Given the description of an element on the screen output the (x, y) to click on. 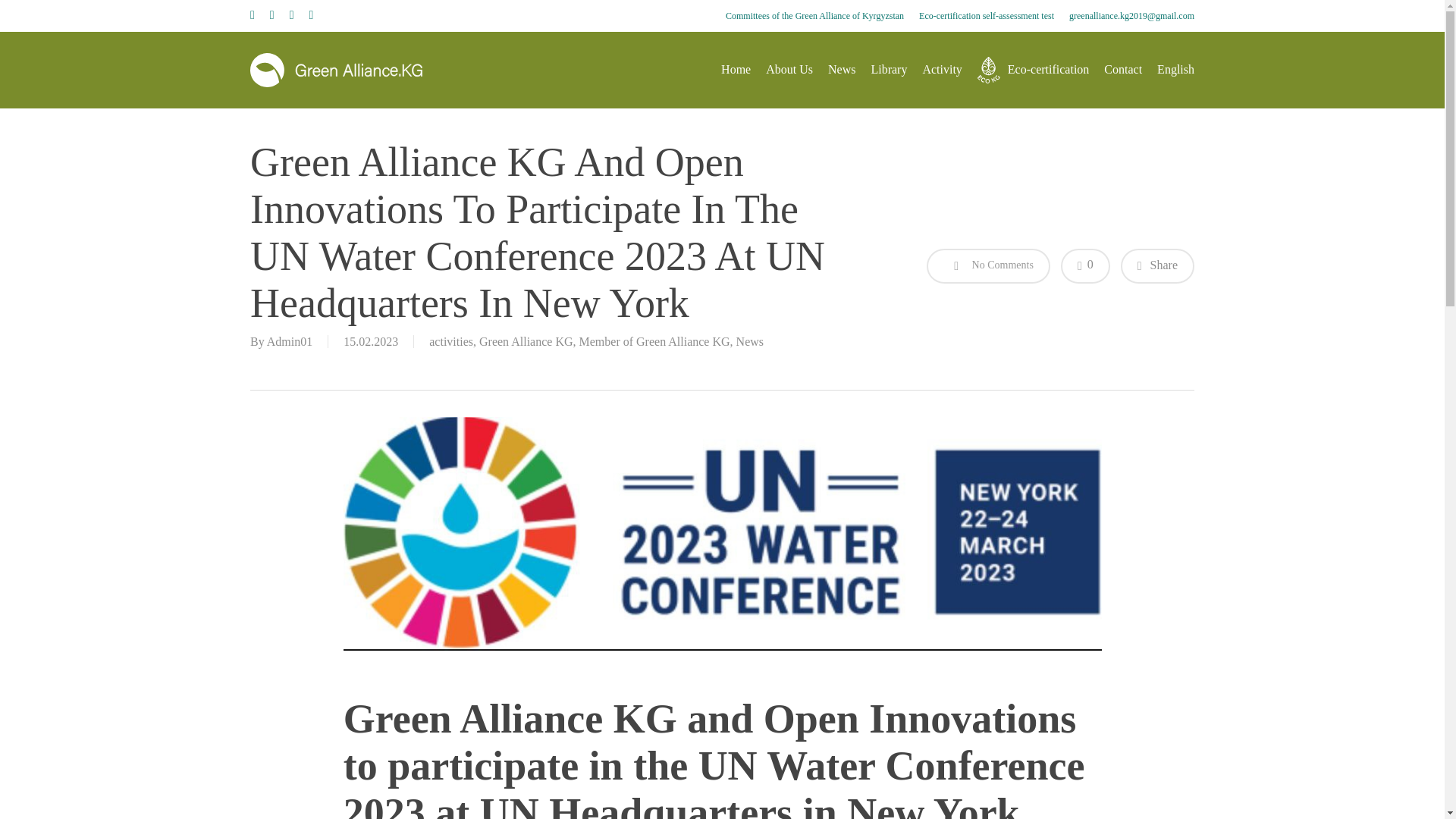
Committees of the Green Alliance of Kyrgyzstan (814, 15)
Activity (940, 69)
Love this (1085, 265)
Eco-certification (1032, 69)
About Us (788, 69)
Library (888, 69)
Eco-certification self-assessment test (986, 15)
Contact (1122, 69)
Home (735, 69)
News (842, 69)
